Given the description of an element on the screen output the (x, y) to click on. 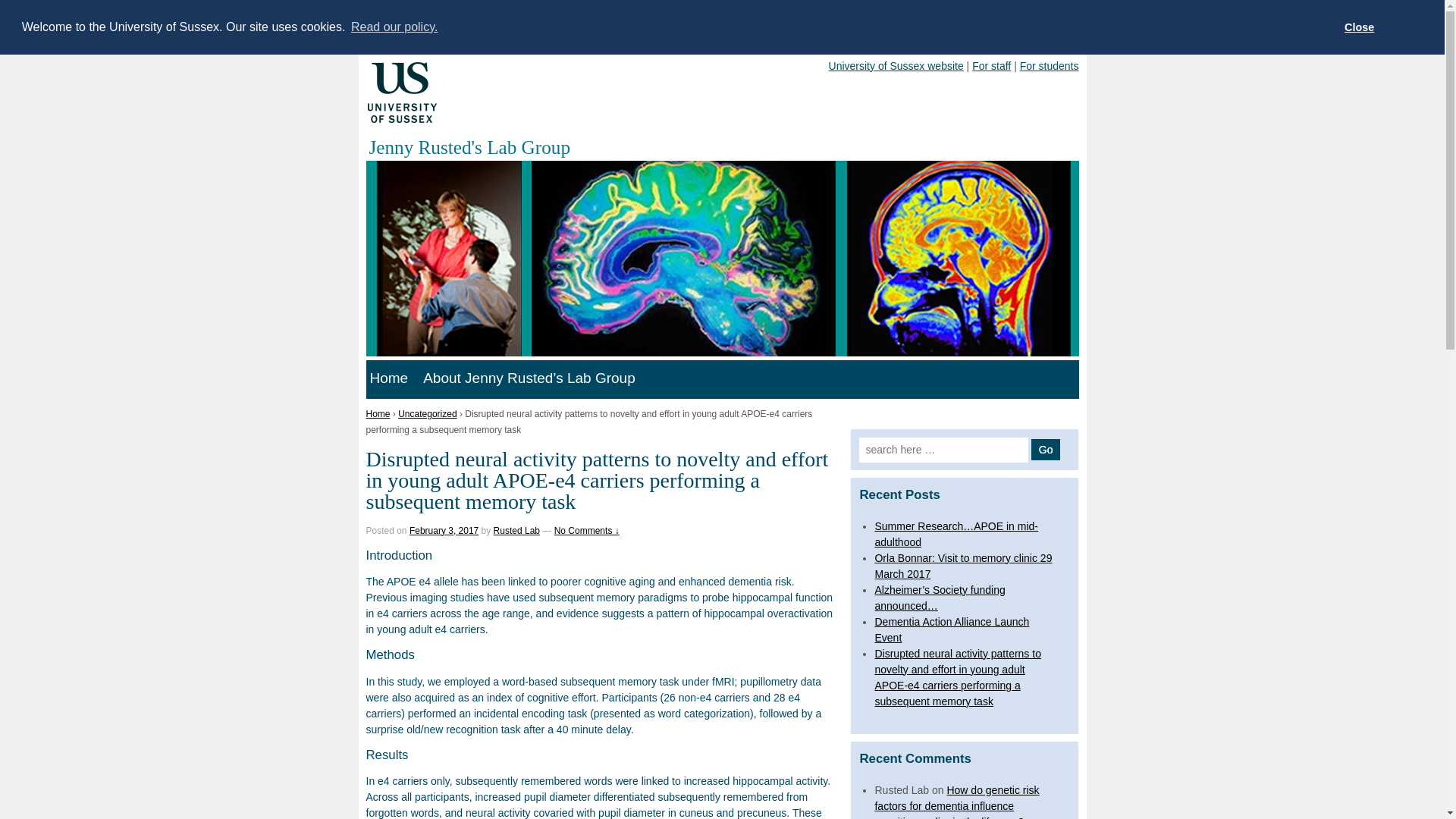
For students (1049, 64)
February 3, 2017 (444, 529)
For staff (991, 64)
Read our policy. (395, 26)
View all posts by Rusted Lab (516, 529)
Close (1358, 27)
Go (1045, 448)
University of Sussex website (895, 64)
Uncategorized (427, 412)
Home (377, 412)
Go (1045, 448)
Home (388, 378)
